Given the description of an element on the screen output the (x, y) to click on. 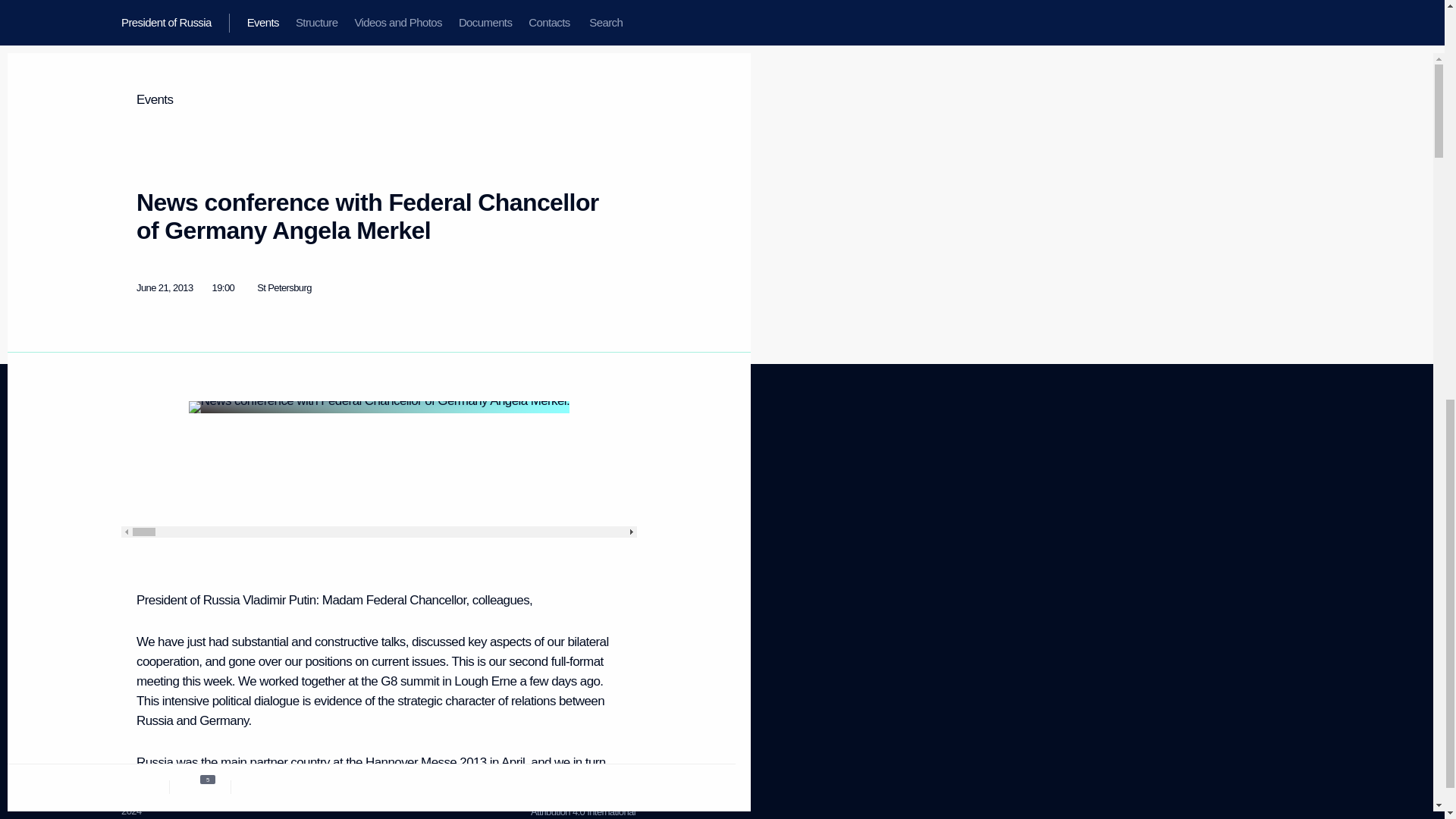
Contacts (138, 556)
Directory (138, 665)
Documents (143, 537)
Structure (138, 500)
Using website content (574, 500)
The Constitution of Russia (309, 512)
Personal data of website users (579, 525)
Contact website team (573, 550)
Search (317, 487)
Creative Commons Attribution 4.0 International (134, 575)
Videos and Photos (582, 805)
About website (158, 518)
Events (558, 480)
For the Media (134, 480)
